Given the description of an element on the screen output the (x, y) to click on. 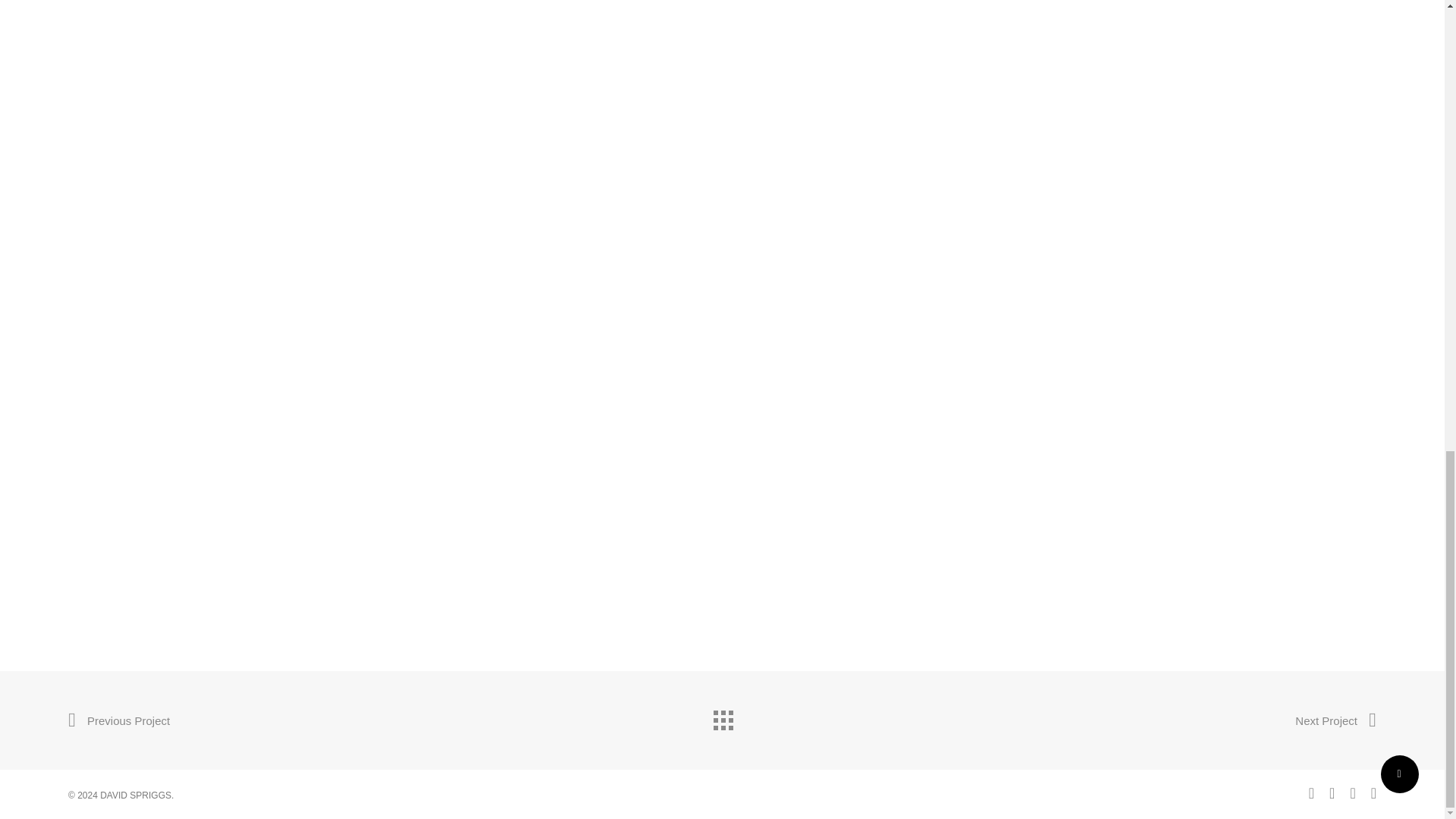
Back to all projects (721, 716)
Previous Project (119, 721)
Next Project (1335, 721)
